Given the description of an element on the screen output the (x, y) to click on. 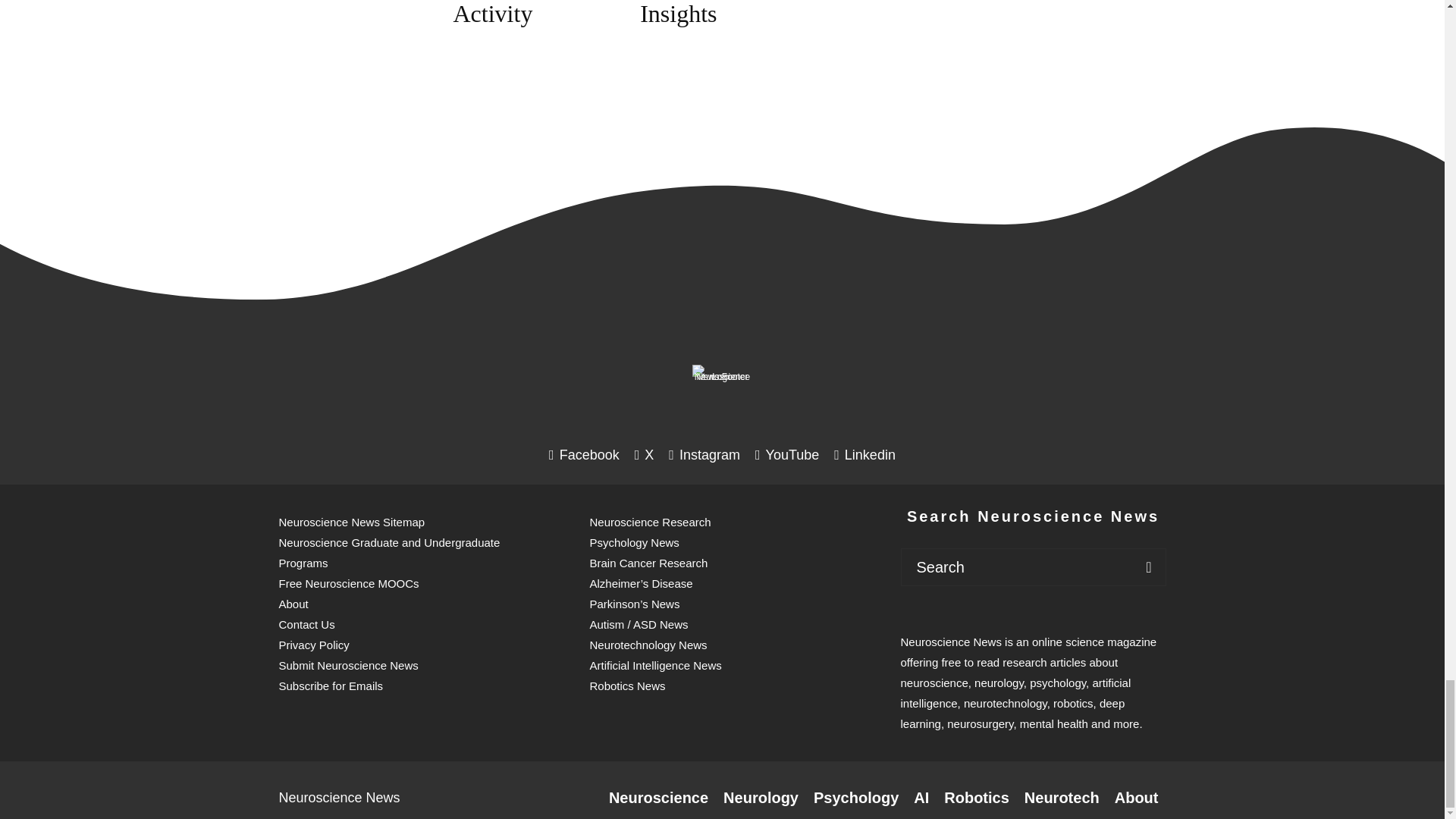
Neurology Research Articles (760, 797)
Neuroscience Research (657, 797)
